Given the description of an element on the screen output the (x, y) to click on. 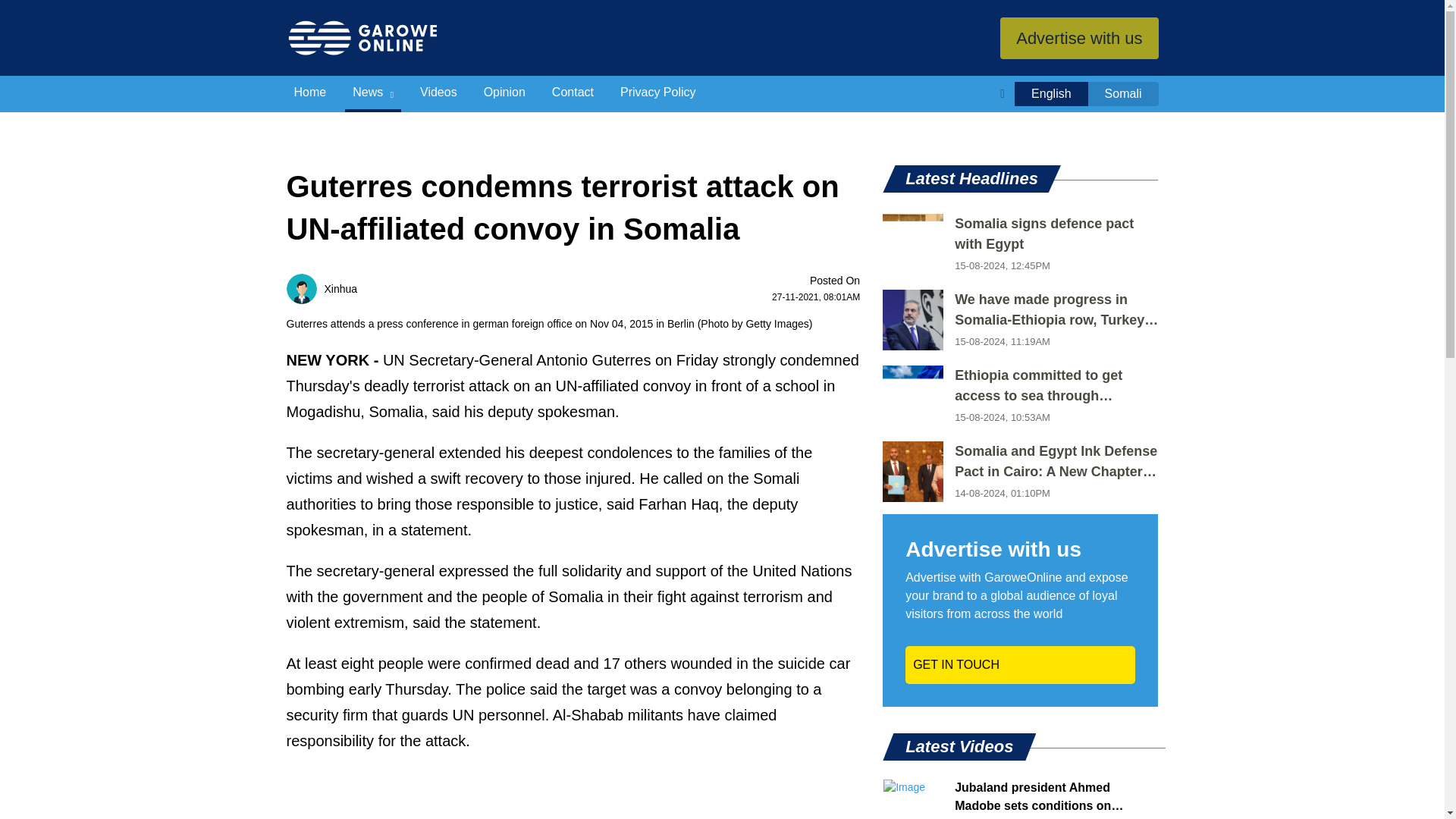
Privacy Policy (657, 94)
Ethiopia committed to get access to sea through diplomacy (1056, 385)
Opinion (504, 94)
We have made progress in Somalia-Ethiopia row, Turkey says (1056, 309)
Advertise with us (1078, 37)
Somali (1122, 93)
Home (310, 94)
News (373, 94)
Videos (438, 94)
27-11-2021, 08:01AM (815, 296)
